Given the description of an element on the screen output the (x, y) to click on. 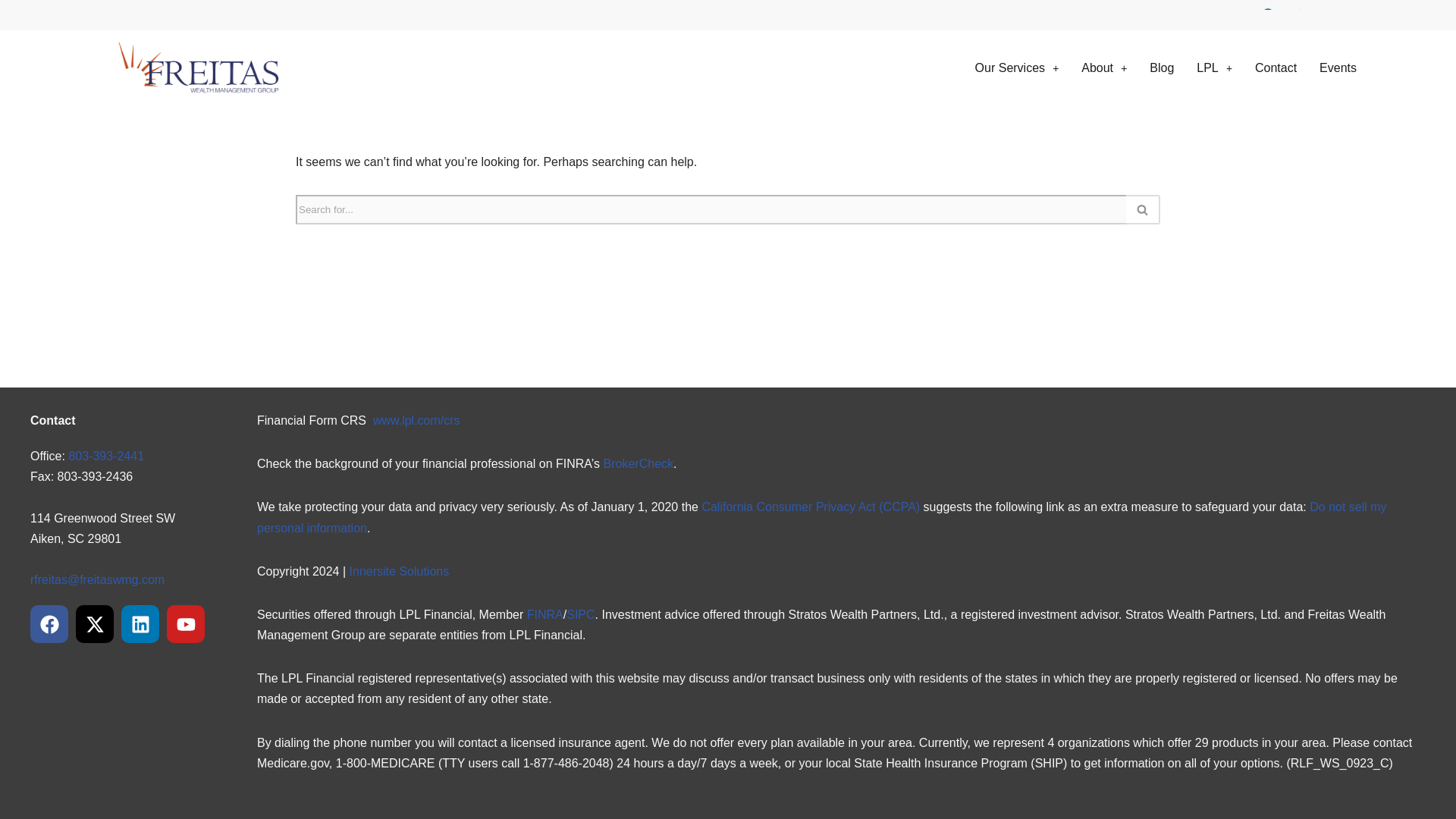
Innersite Solutions (399, 571)
LPL (1214, 67)
803-393-2441 (106, 455)
SIPC (580, 614)
BrokerCheck (638, 463)
Our Services (1016, 67)
About (1104, 67)
FINRA (545, 614)
Skip to content (11, 31)
Blog (1161, 67)
Do not sell my personal information (822, 516)
Contact (1275, 67)
Events (1337, 67)
